Given the description of an element on the screen output the (x, y) to click on. 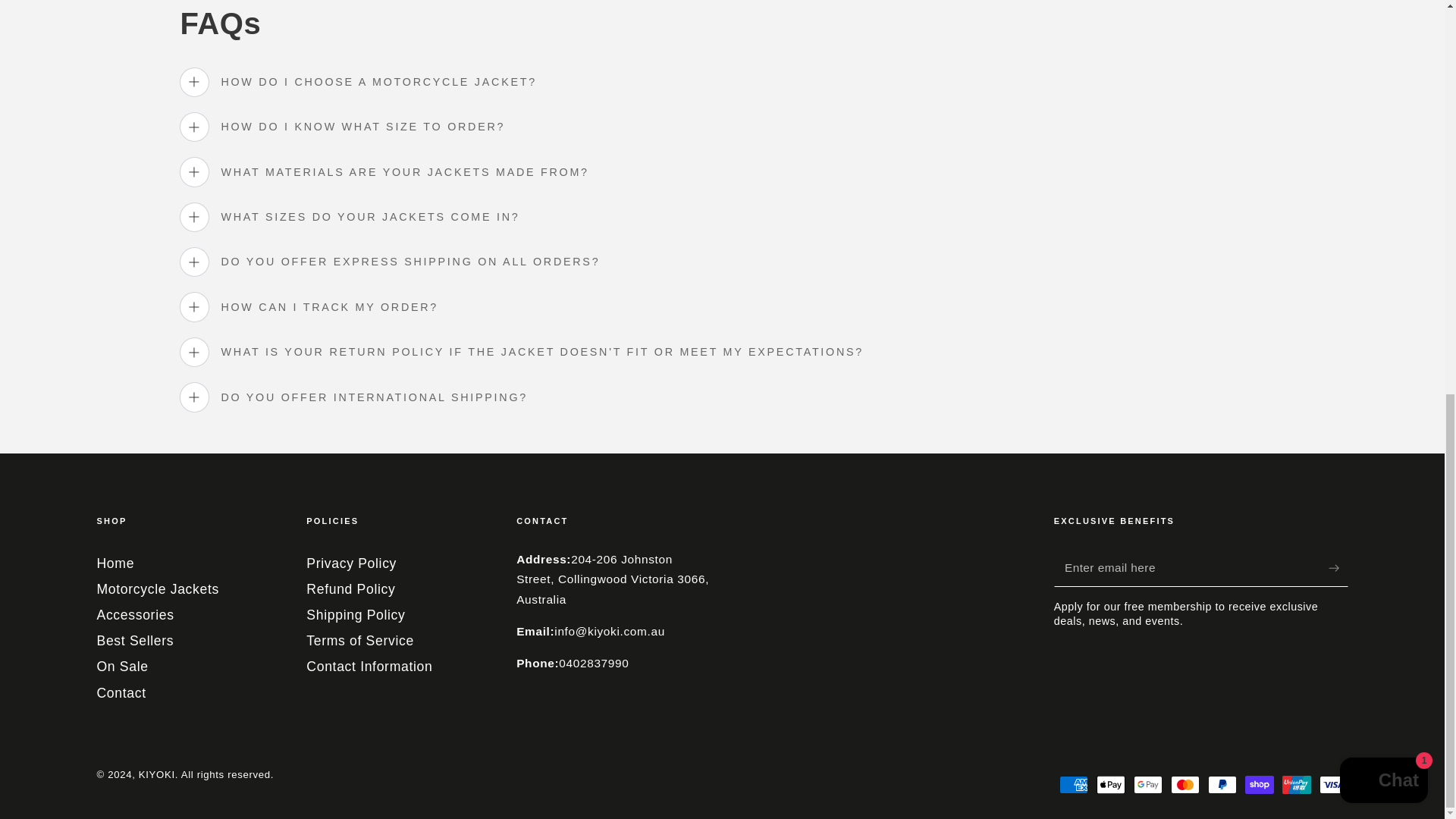
Home (116, 563)
Shopify online store chat (1383, 23)
